Given the description of an element on the screen output the (x, y) to click on. 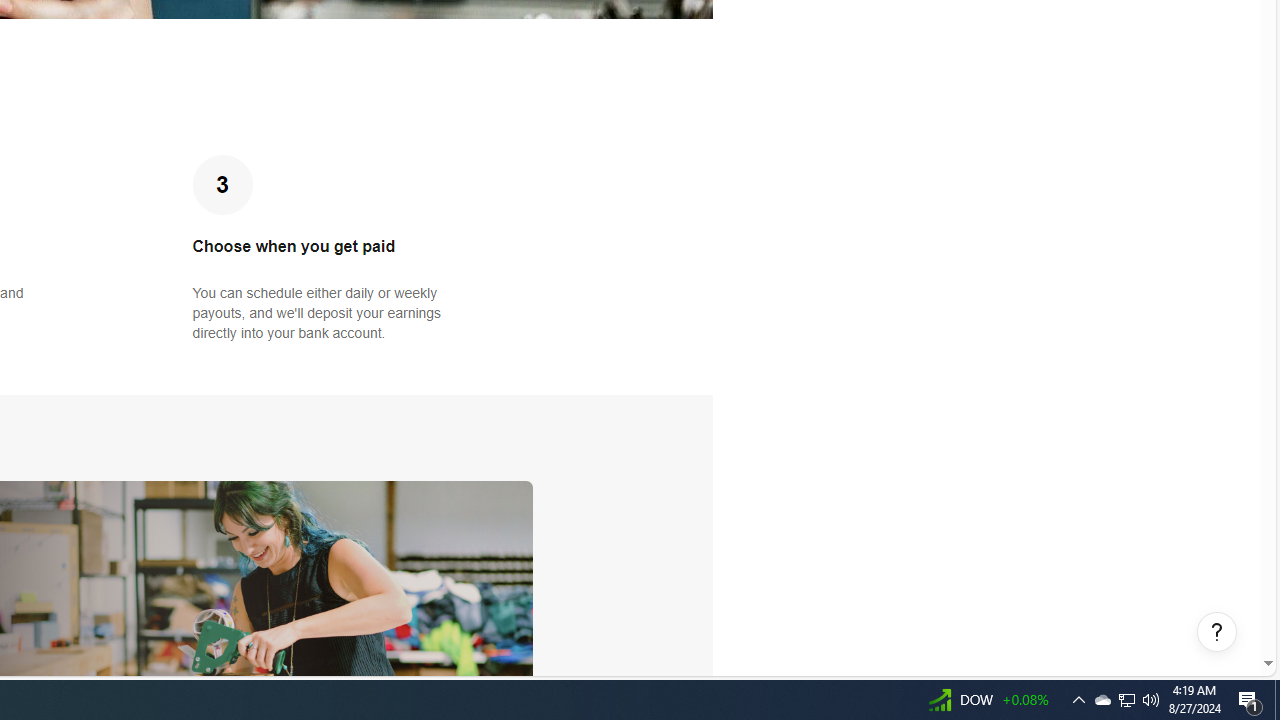
Help, opens dialogs (1217, 632)
